Given the description of an element on the screen output the (x, y) to click on. 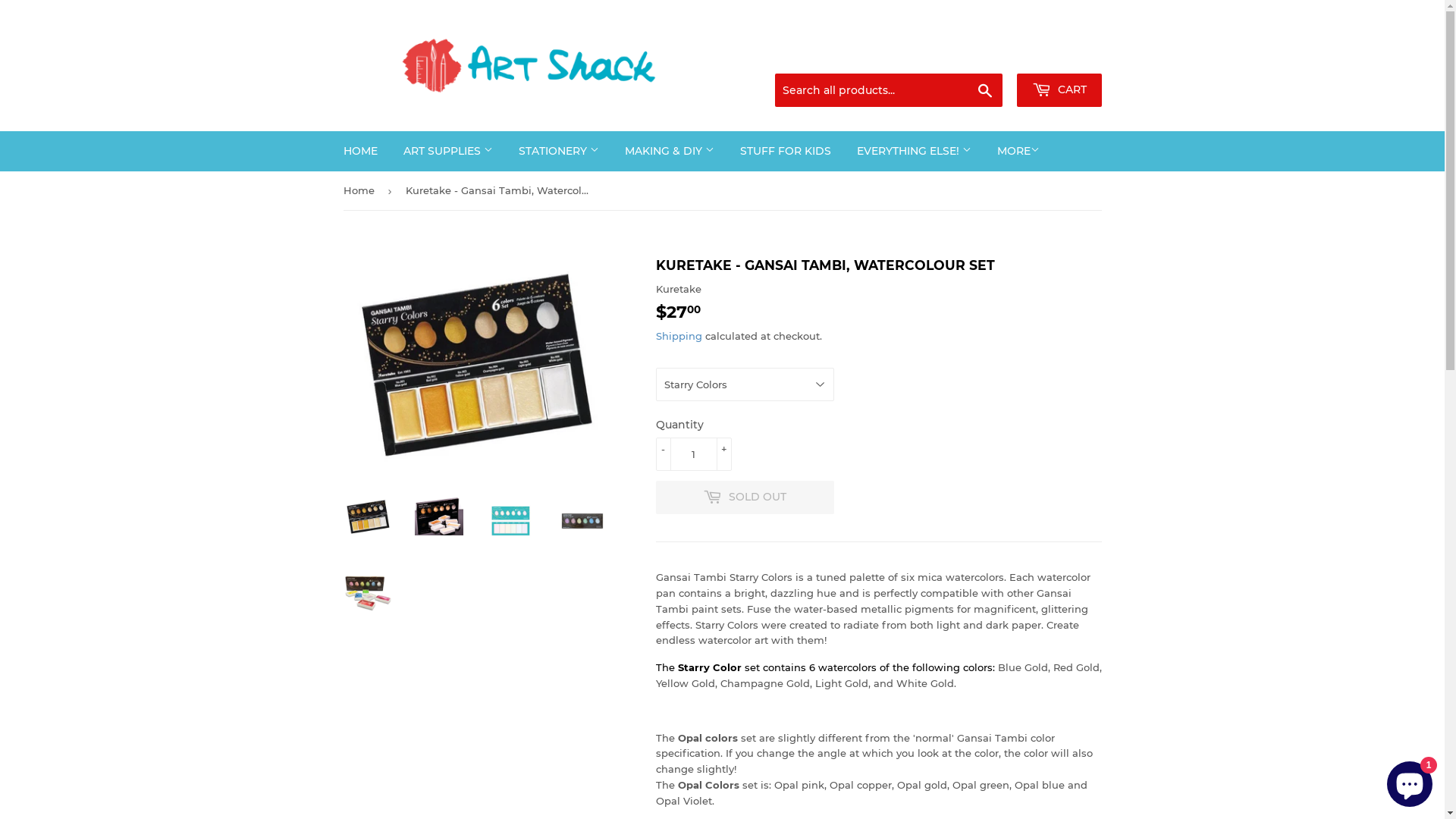
Shipping Element type: text (678, 335)
FREE SHIPPING IN CANADA ON ORDERS OVER 150$! Element type: text (988, 42)
EVERYTHING ELSE! Element type: text (913, 150)
SOLD OUT Element type: text (744, 497)
MAKING & DIY Element type: text (668, 150)
HOME Element type: text (360, 150)
CART Element type: text (1058, 89)
MORE Element type: text (1018, 150)
STUFF FOR KIDS Element type: text (784, 150)
Home Element type: text (360, 190)
Create an Account Element type: text (1059, 55)
ART SUPPLIES Element type: text (447, 150)
Search Element type: text (984, 90)
Sign in Element type: text (981, 55)
STATIONERY Element type: text (557, 150)
Shopify online store chat Element type: hover (1409, 780)
